Given the description of an element on the screen output the (x, y) to click on. 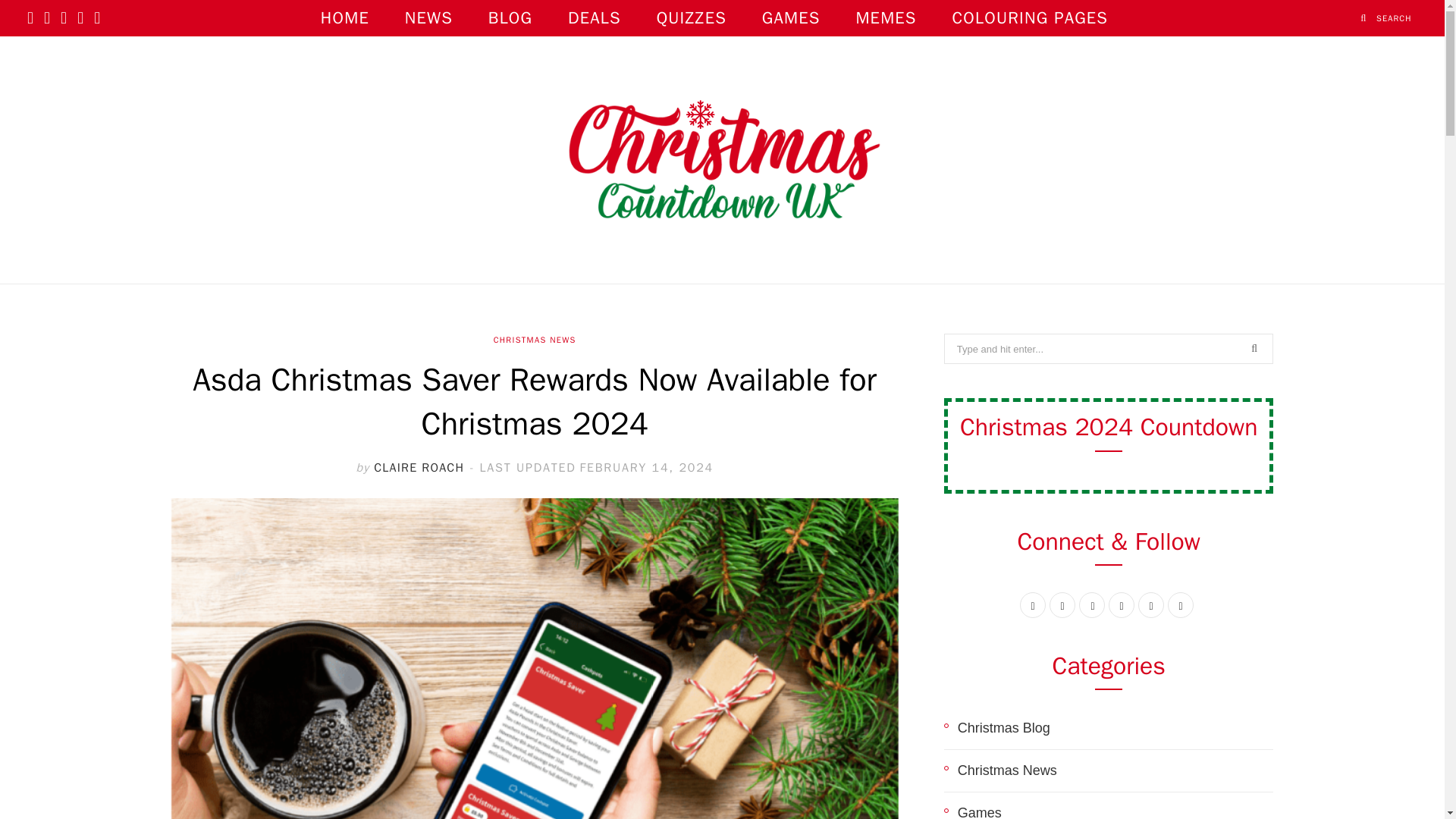
MEMES (885, 18)
COLOURING PAGES (1030, 18)
DEALS (594, 18)
CHRISTMAS NEWS (534, 339)
HOME (344, 18)
BLOG (509, 18)
QUIZZES (691, 18)
NEWS (428, 18)
Christmas Countdown UK (721, 159)
